Given the description of an element on the screen output the (x, y) to click on. 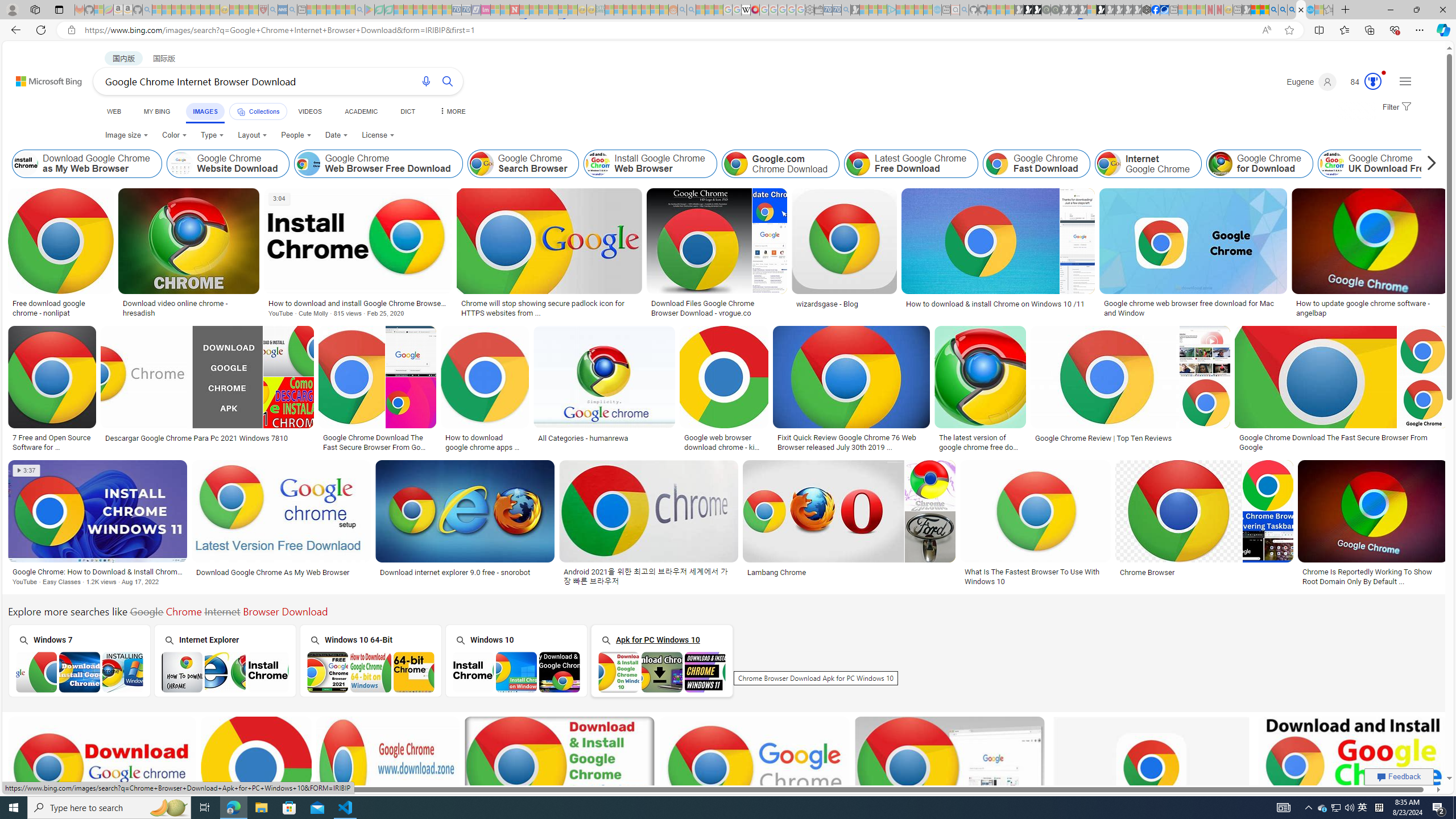
Microsoft-Report a Concern to Bing - Sleeping (98, 9)
How to update google chrome software - angelbapSave (1369, 254)
Download Chrome Browser in Internet Explorer (224, 671)
Google Chrome Website Download (227, 163)
Nordace - Cooler Bags (1146, 9)
Microsoft Rewards 84 (1362, 81)
AutomationID: rh_meter (1372, 80)
Future Focus Report 2024 - Sleeping (1054, 9)
